Given the description of an element on the screen output the (x, y) to click on. 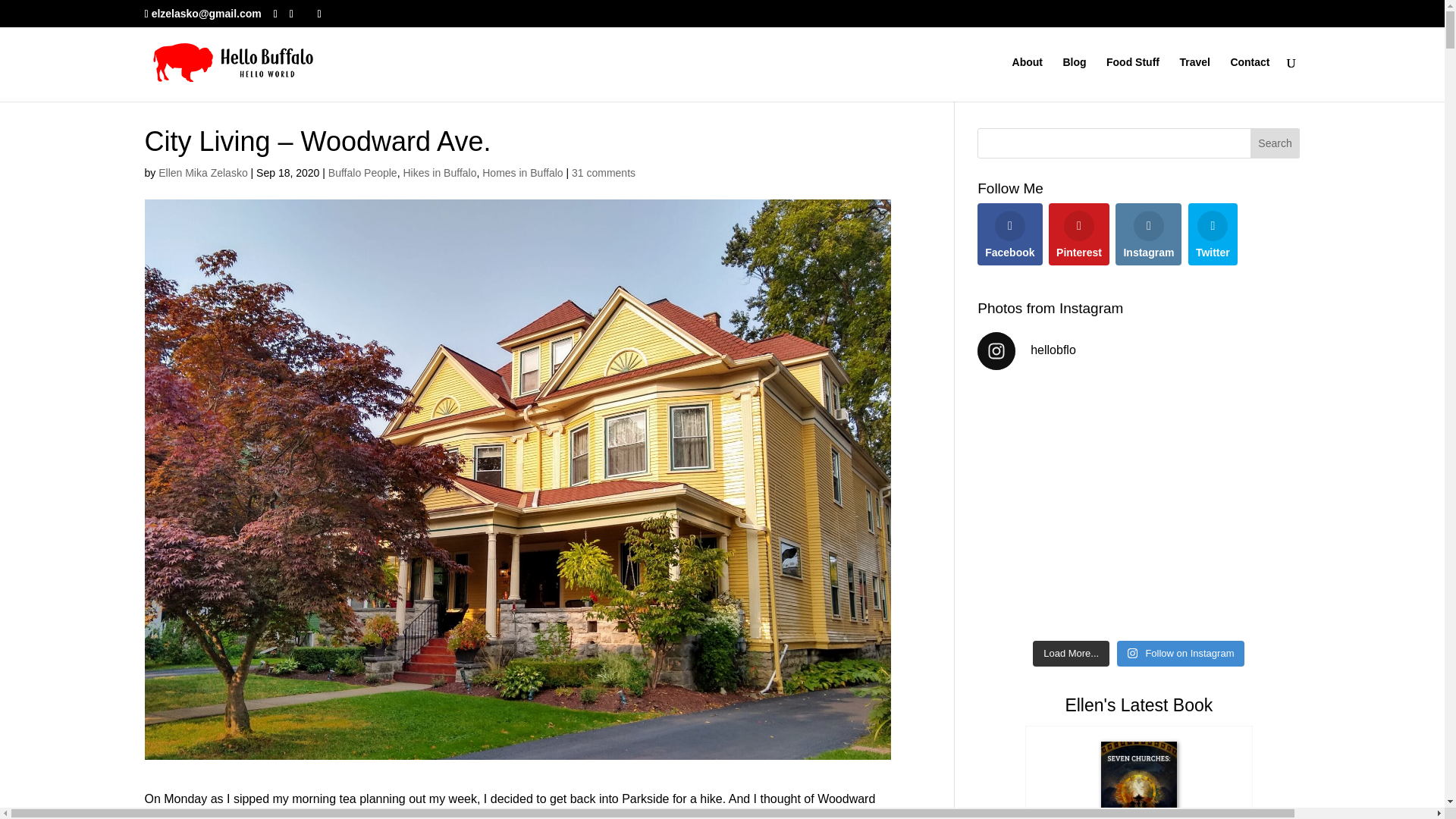
Posts by Ellen Mika Zelasko (202, 173)
31 comments (603, 173)
Search (1275, 142)
Hikes in Buffalo (439, 173)
Buffalo People (363, 173)
Homes in Buffalo (521, 173)
Ellen Mika Zelasko (202, 173)
Food Stuff (1132, 78)
